Given the description of an element on the screen output the (x, y) to click on. 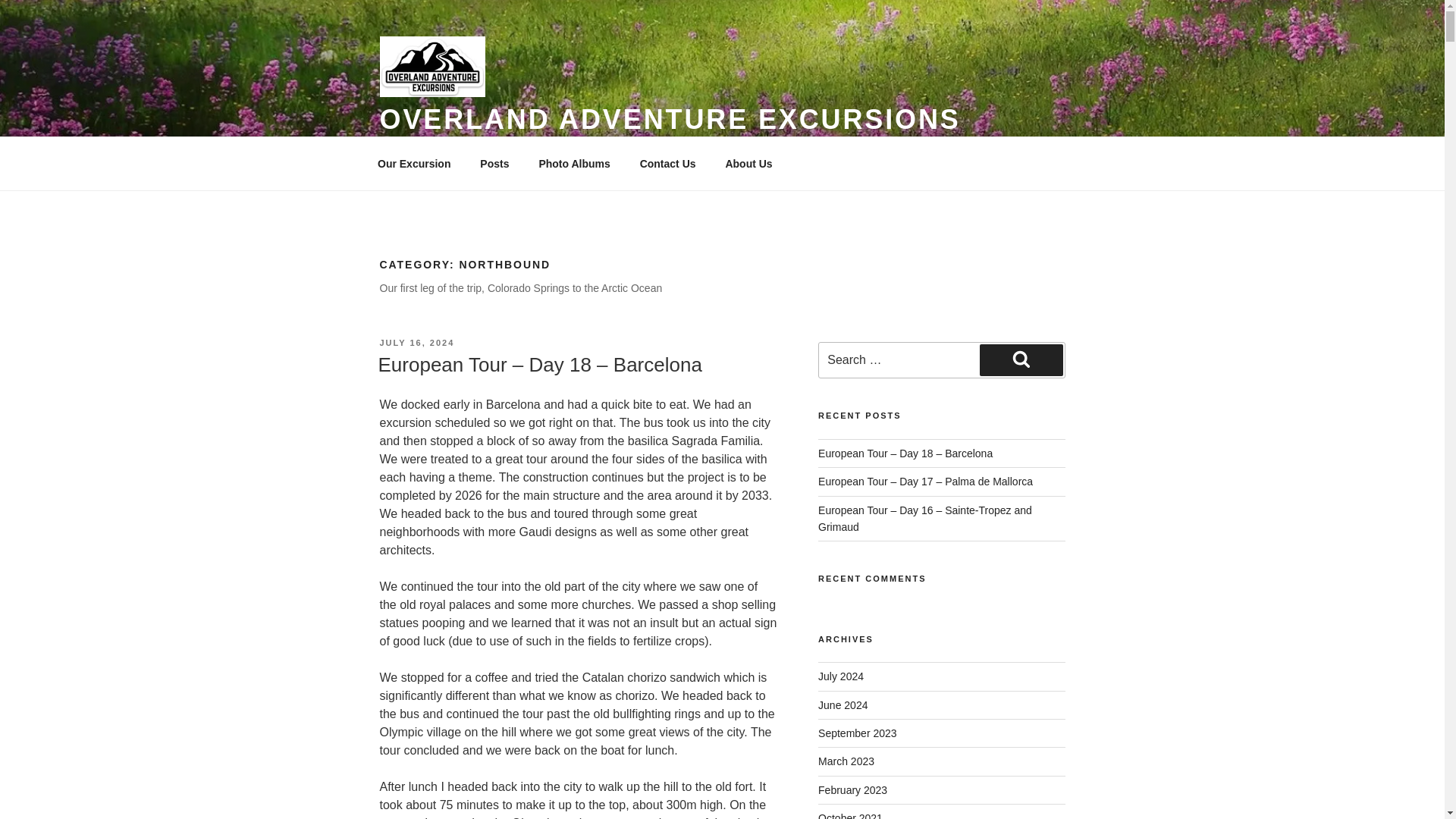
Posts (494, 163)
About Us (748, 163)
Contact Us (667, 163)
JULY 16, 2024 (416, 342)
Photo Albums (574, 163)
OVERLAND ADVENTURE EXCURSIONS (668, 119)
Our Excursion (413, 163)
